Given the description of an element on the screen output the (x, y) to click on. 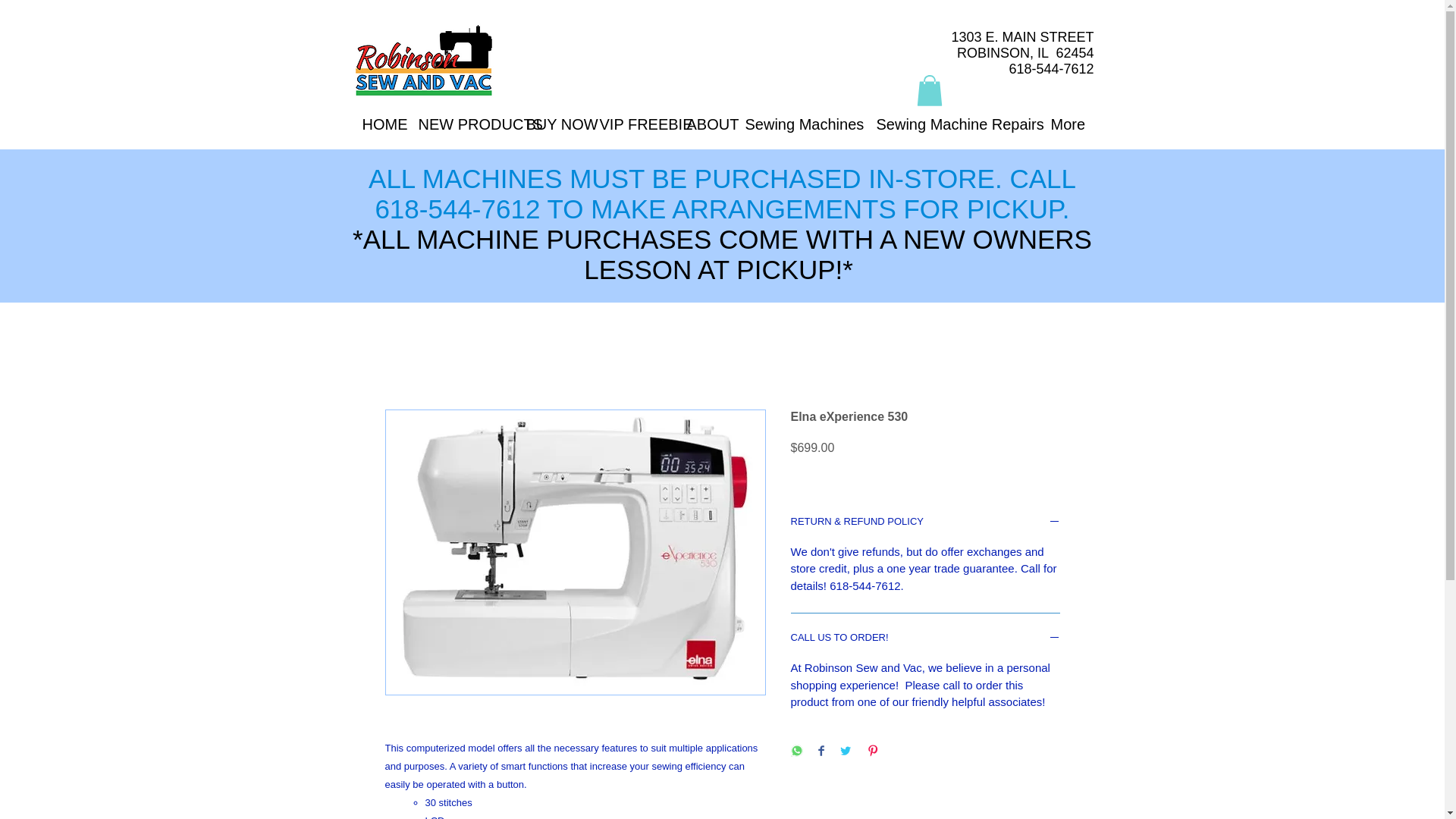
HOME (378, 124)
Sewing Machines (798, 124)
CALL US TO ORDER! (924, 639)
VIP FREEBIE (631, 124)
BUY NOW (550, 124)
Sewing Machine Repairs (951, 124)
ABOUT (704, 124)
NEW PRODUCTS (459, 124)
